Given the description of an element on the screen output the (x, y) to click on. 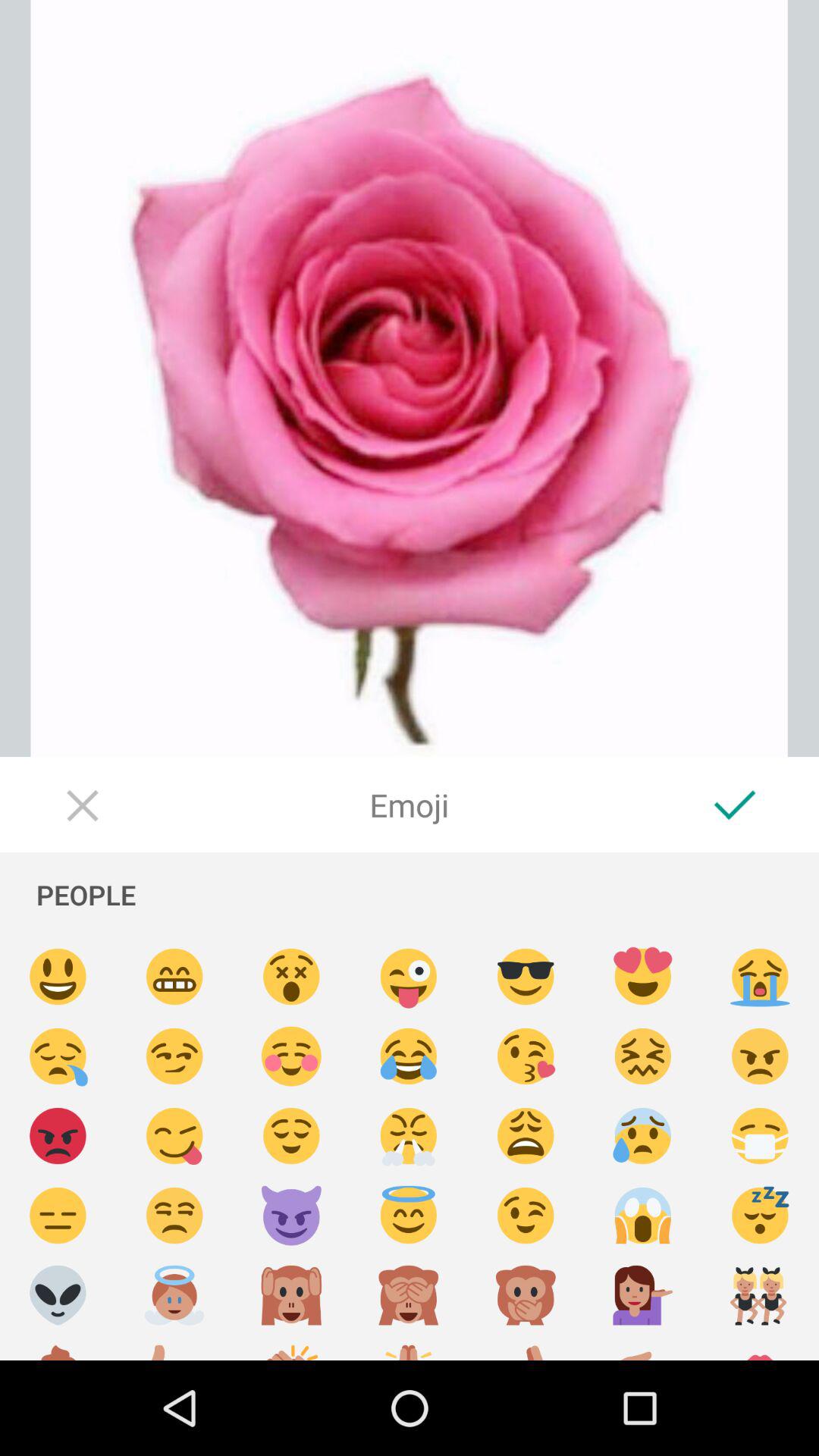
heart eyes emoji (642, 976)
